Given the description of an element on the screen output the (x, y) to click on. 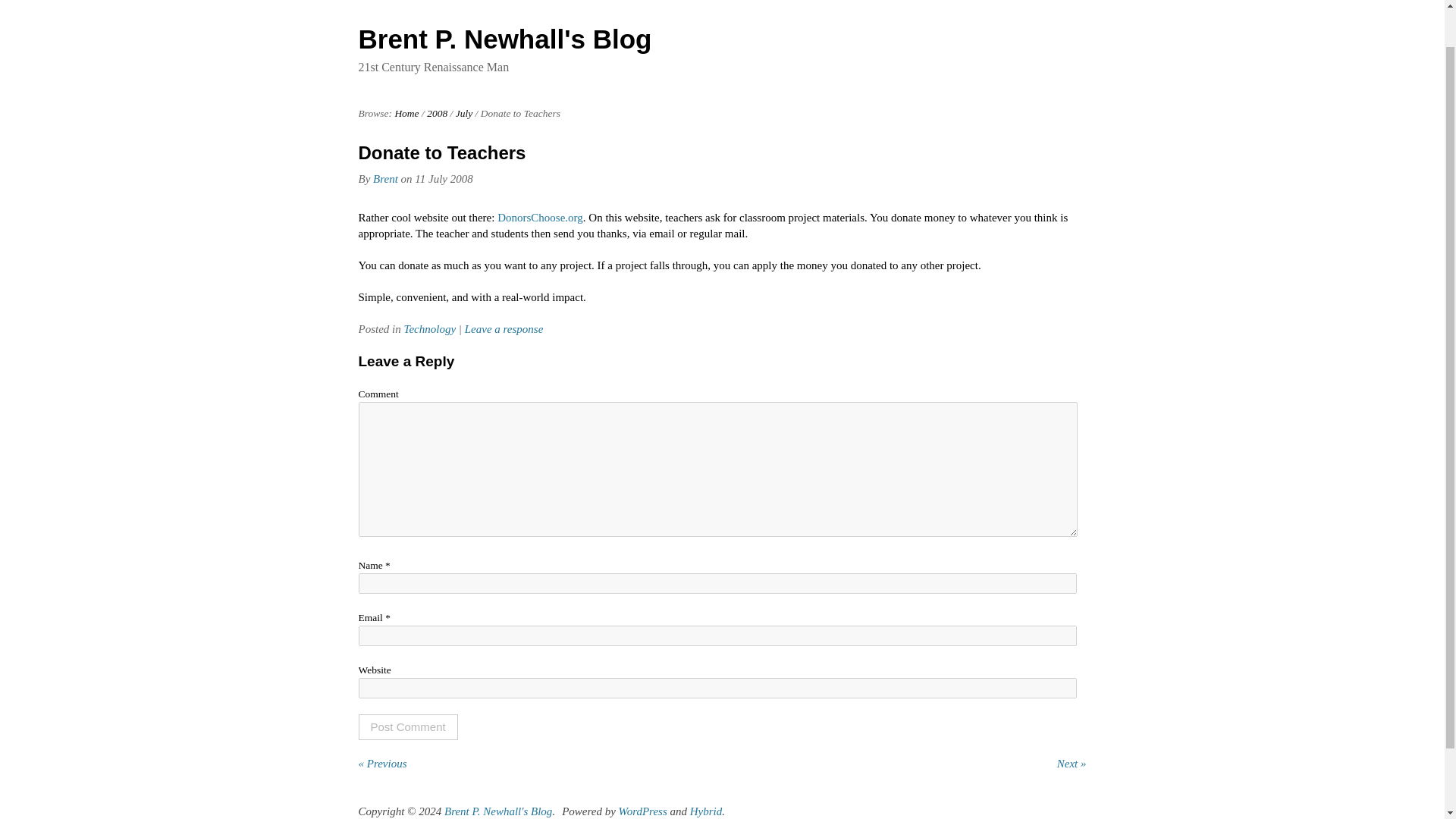
Donate to Teachers (441, 152)
2008 (436, 112)
Comment on Donate to Teachers (503, 328)
2008 (436, 112)
Post Comment (407, 727)
State-of-the-art semantic personal publishing platform (642, 811)
Brent P. Newhall's Blog (504, 39)
DonorsChoose.org (540, 217)
Home (406, 112)
Hybrid (706, 811)
Brent P. Newhall's Blog (497, 811)
Brent P. Newhall's Blog (406, 112)
Brent P. Newhall's Blog (497, 811)
Friday, July 11th, 2008, 12:00 am (442, 178)
Post Comment (407, 727)
